Given the description of an element on the screen output the (x, y) to click on. 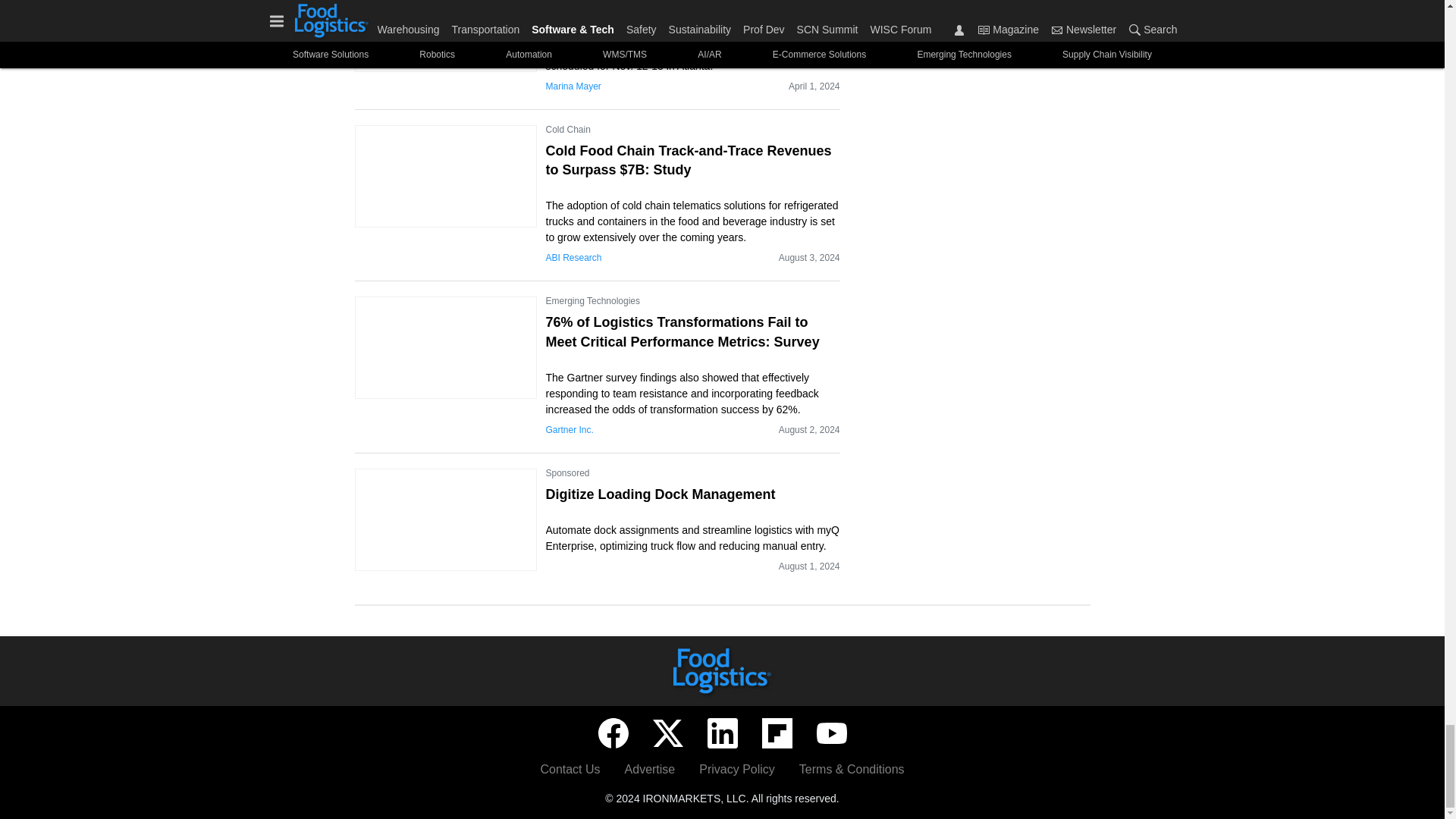
Facebook icon (611, 733)
LinkedIn icon (721, 733)
Twitter X icon (667, 733)
YouTube icon (830, 733)
Flipboard icon (776, 733)
